Given the description of an element on the screen output the (x, y) to click on. 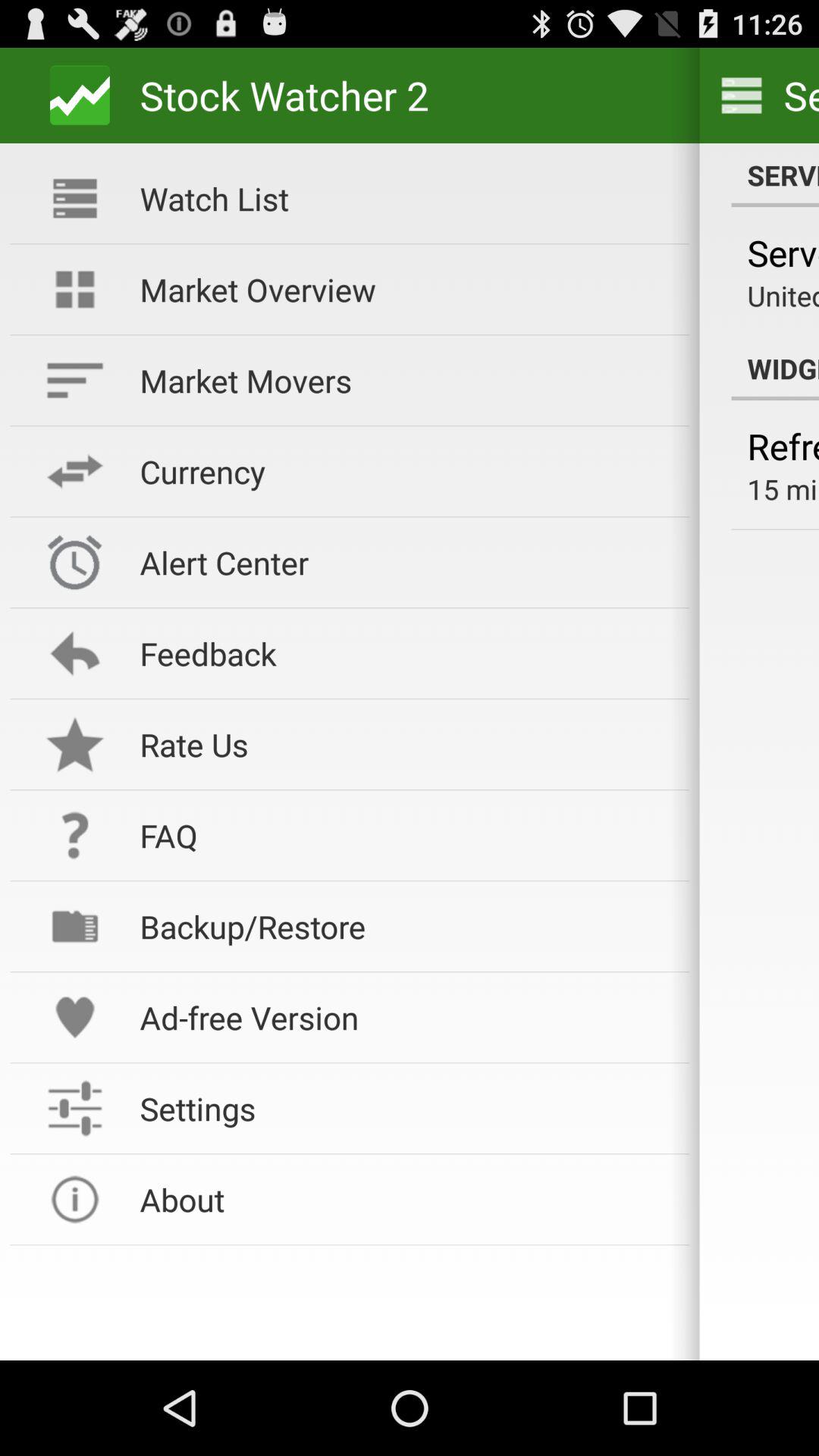
open backup/restore icon (404, 926)
